Given the description of an element on the screen output the (x, y) to click on. 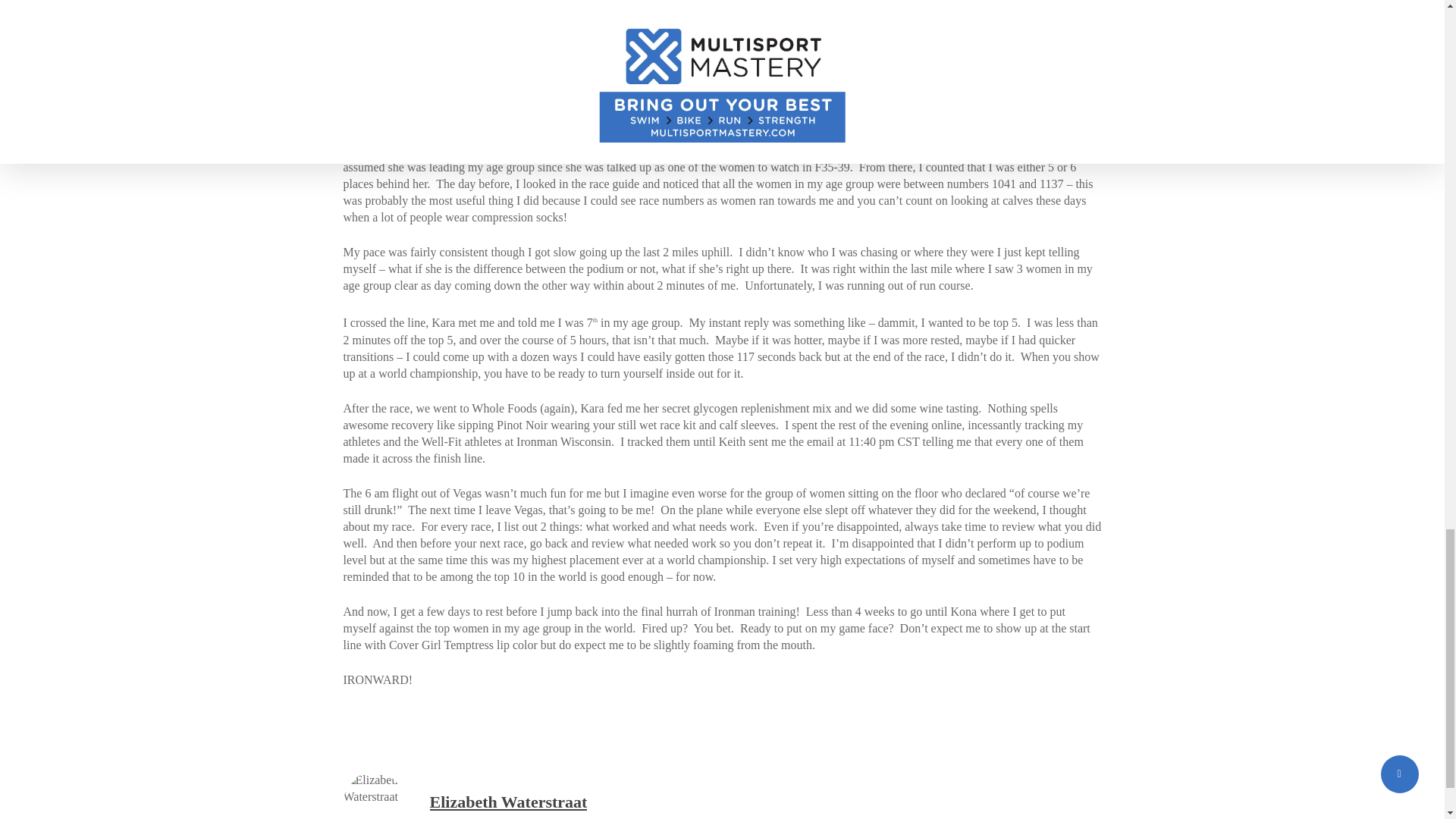
Elizabeth Waterstraat (507, 801)
